Given the description of an element on the screen output the (x, y) to click on. 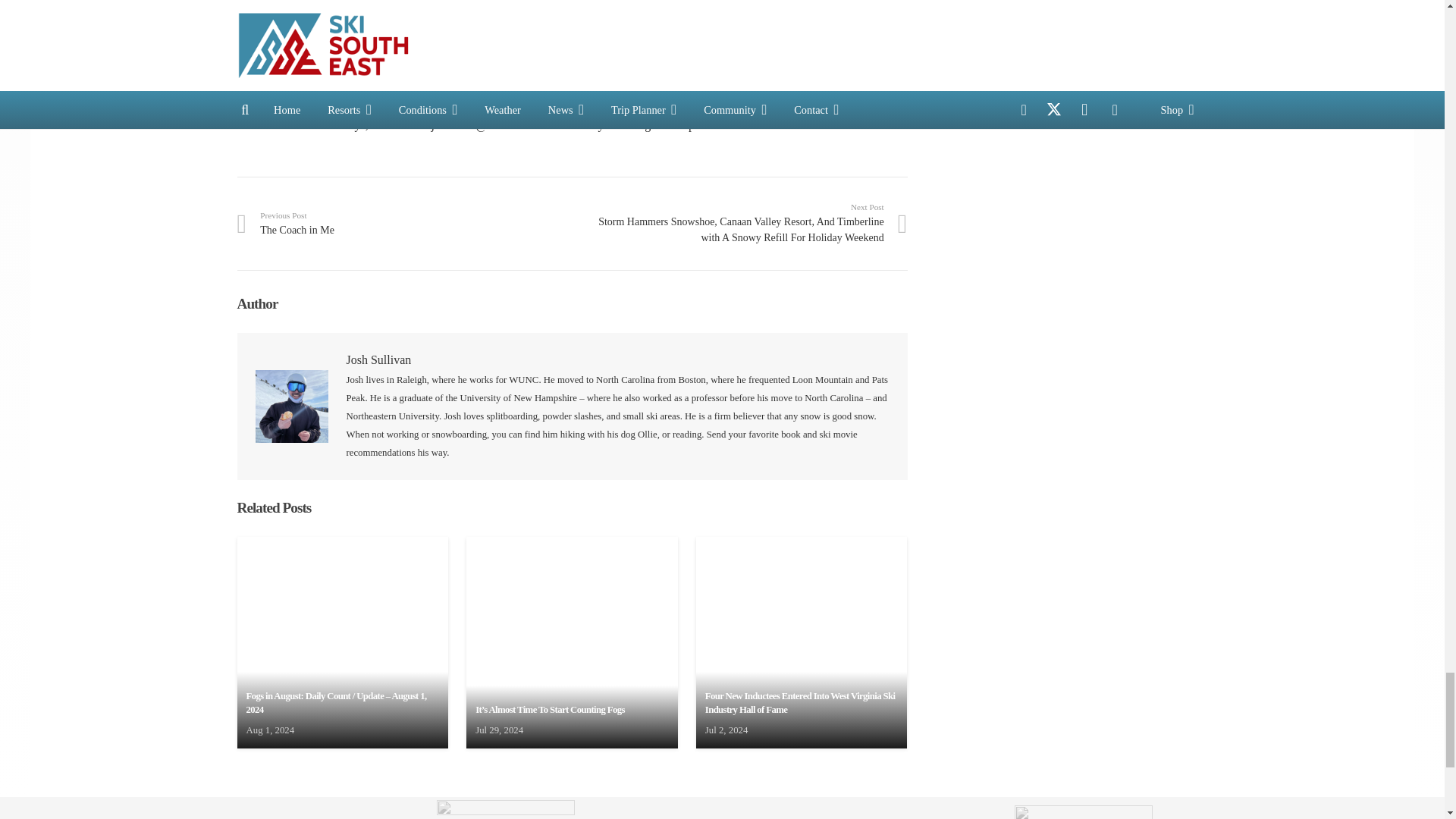
The Coach in Me (403, 222)
